Given the description of an element on the screen output the (x, y) to click on. 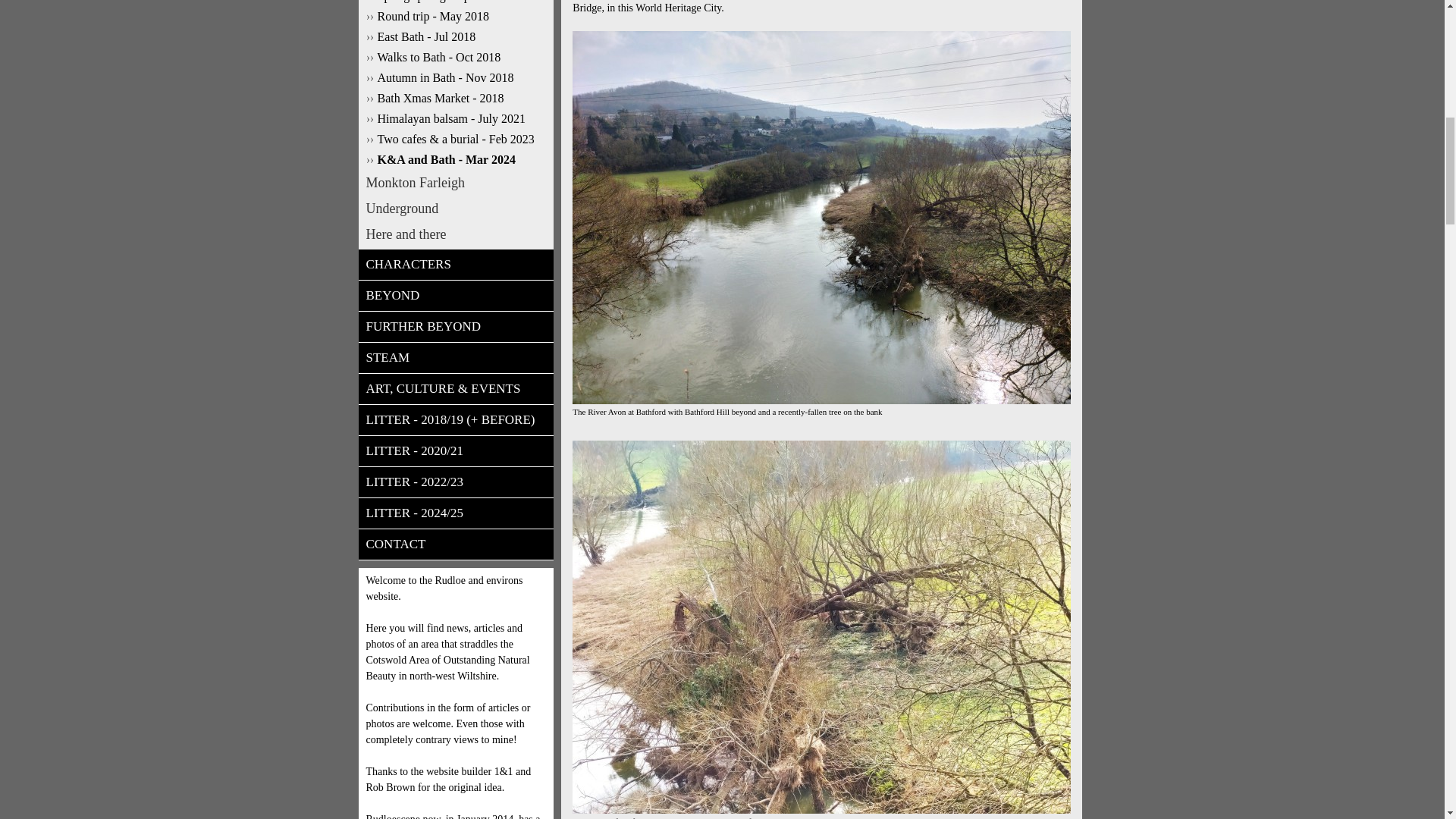
Autumn in Bath - Nov 2018 (455, 77)
East Bath - Jul 2018 (455, 36)
Walks to Bath - Oct 2018 (455, 57)
Monkton Farleigh (455, 182)
Bath Xmas Market - 2018 (455, 98)
Spring sprung - Apr 2018 (455, 2)
Round trip - May 2018 (455, 16)
Himalayan balsam - July 2021 (455, 118)
